Given the description of an element on the screen output the (x, y) to click on. 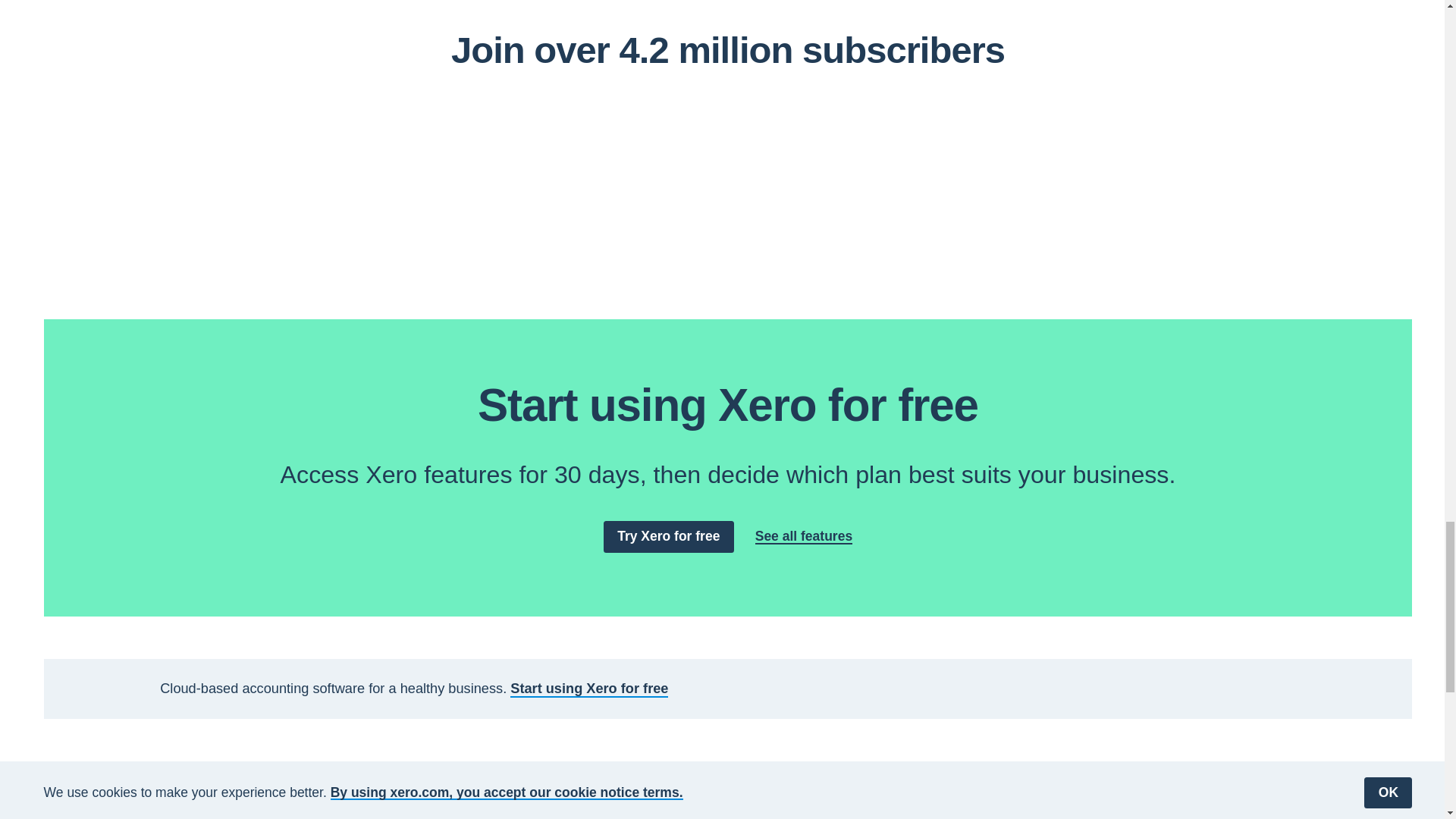
Try Xero for free (668, 536)
Customer reviews powered by Trustpilot (727, 179)
Start using Xero for free (589, 688)
See all features (803, 536)
